Given the description of an element on the screen output the (x, y) to click on. 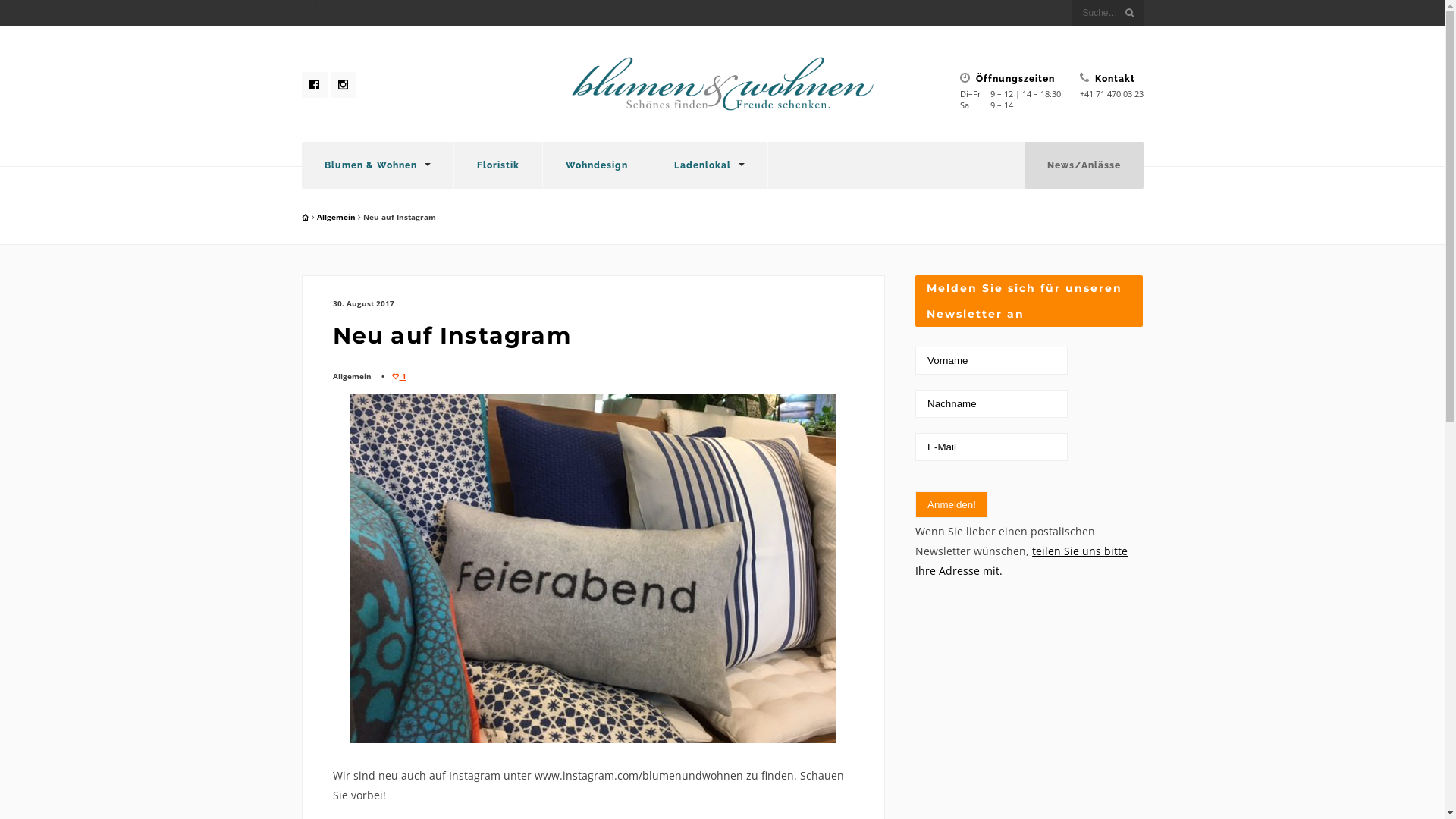
Vorname Element type: hover (991, 360)
Blumen & Wohnen Element type: text (377, 164)
E-Mail Element type: hover (991, 447)
Nachname Element type: hover (991, 403)
Allgemein Element type: text (351, 375)
Anmelden! Element type: text (951, 504)
Wohndesign Element type: text (596, 164)
Neu auf Instagram Element type: text (451, 335)
Kontakt Element type: text (1111, 77)
 1 Element type: text (401, 375)
Instagram Element type: hover (343, 84)
Ladenlokal Element type: text (708, 164)
Facebook Element type: hover (314, 84)
Allgemein Element type: text (335, 216)
teilen Sie uns bitte Ihre Adresse mit. Element type: text (1021, 560)
Floristik Element type: text (497, 164)
